Given the description of an element on the screen output the (x, y) to click on. 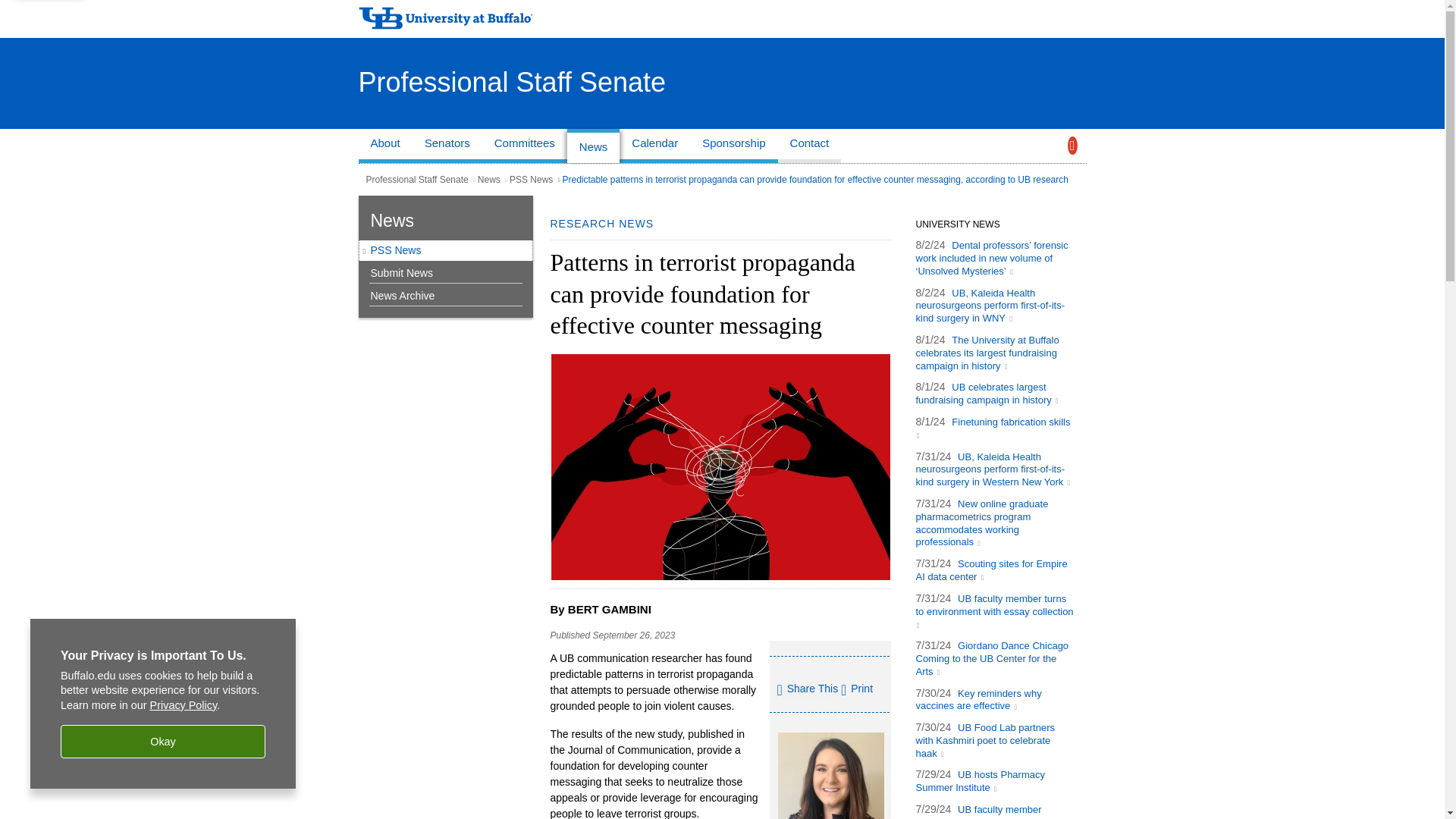
Calendar (655, 145)
This link opens a page in a new window or tab. (987, 352)
News (593, 145)
This link opens a page in a new window or tab. (991, 569)
This link opens a page in a new window or tab. (994, 610)
This link opens a page in a new window or tab. (986, 392)
This link opens a page in a new window or tab. (991, 257)
This link opens a page in a new window or tab. (991, 658)
This link opens a page in a new window or tab. (981, 522)
Committees (524, 145)
